Given the description of an element on the screen output the (x, y) to click on. 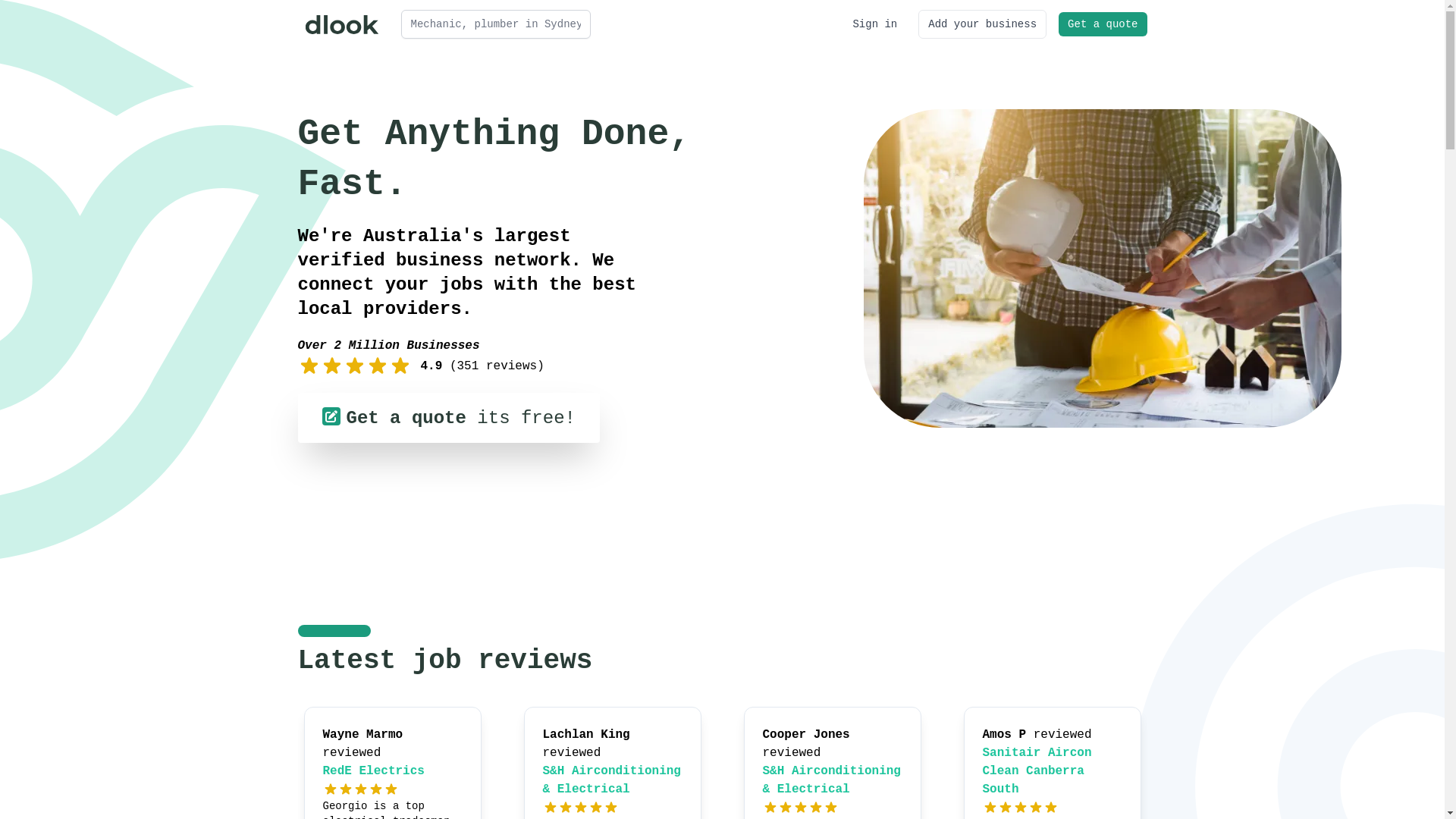
S&H Airconditioning & Electrical Element type: text (831, 780)
Add your business Element type: text (982, 23)
Get a quote Element type: text (1102, 24)
Get a quote its free! Element type: text (448, 417)
Sign in Element type: text (874, 23)
S&H Airconditioning & Electrical Element type: text (611, 780)
Sanitair Aircon Clean Canberra South Element type: text (1037, 771)
RedE Electrics Element type: text (373, 771)
